Given the description of an element on the screen output the (x, y) to click on. 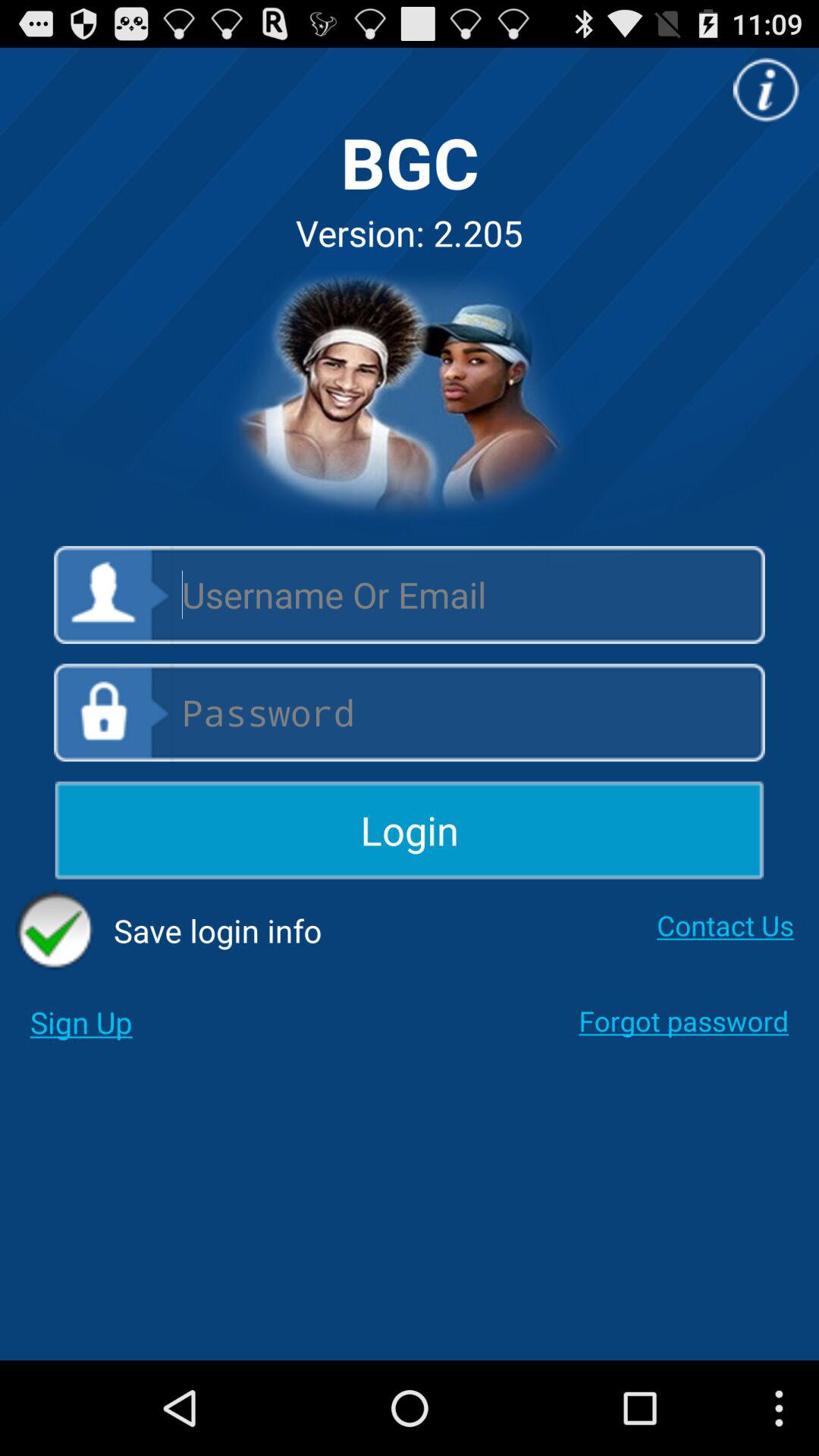
turn off the icon to the right of the   save login info (724, 925)
